Given the description of an element on the screen output the (x, y) to click on. 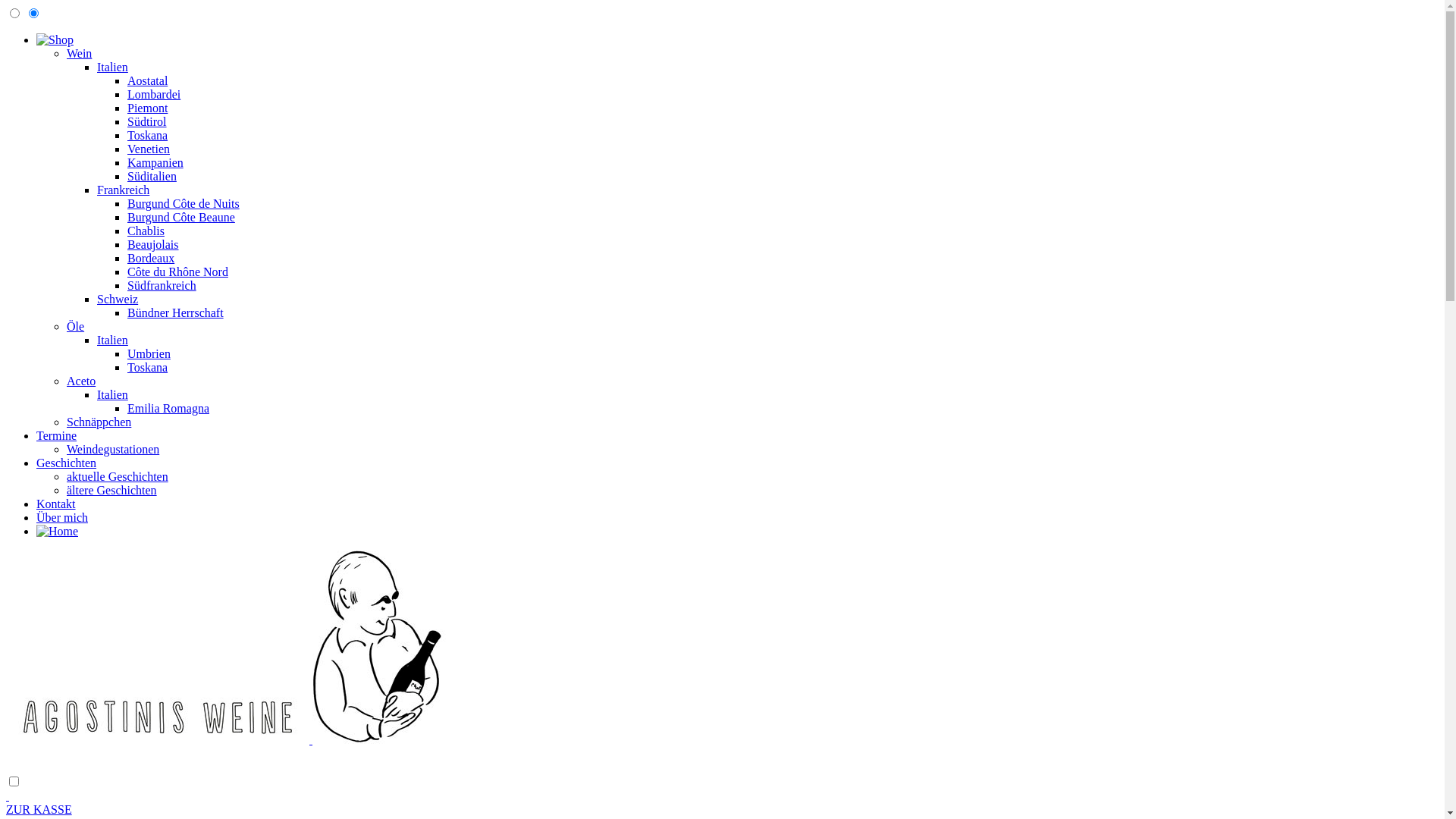
aktuelle Geschichten Element type: text (117, 476)
ZUR KASSE Element type: text (39, 809)
Aostatal Element type: text (147, 80)
Lombardei Element type: text (153, 93)
  Element type: text (722, 796)
Chablis Element type: text (145, 230)
Umbrien Element type: text (148, 353)
Italien Element type: text (112, 66)
Weindegustationen Element type: text (112, 448)
Geschichten Element type: text (66, 462)
Home Element type: hover (57, 531)
Bordeaux Element type: text (150, 257)
Beaujolais Element type: text (152, 244)
Emilia Romagna Element type: text (168, 407)
Termine Element type: text (56, 435)
Wein Element type: text (78, 53)
Schweiz Element type: text (117, 298)
Venetien Element type: text (148, 148)
Kampanien Element type: text (155, 162)
Kontakt Element type: text (55, 503)
Aceto Element type: text (80, 380)
Piemont Element type: text (147, 107)
Toskana Element type: text (147, 366)
Italien Element type: text (112, 394)
Frankreich Element type: text (123, 189)
Shop Element type: hover (54, 40)
Italien Element type: text (112, 339)
Toskana Element type: text (147, 134)
